Given the description of an element on the screen output the (x, y) to click on. 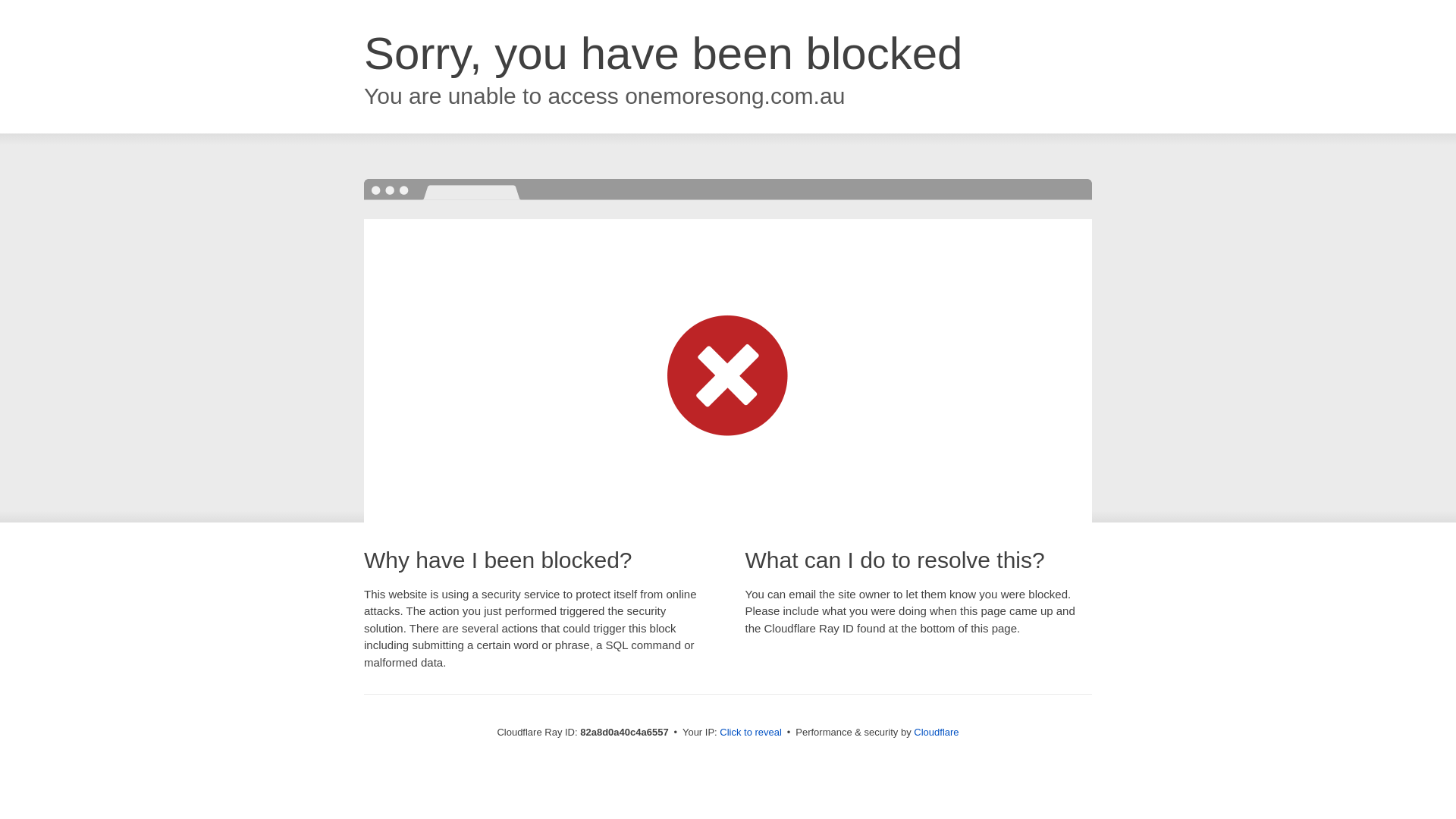
Click to reveal Element type: text (750, 732)
Cloudflare Element type: text (935, 731)
